Given the description of an element on the screen output the (x, y) to click on. 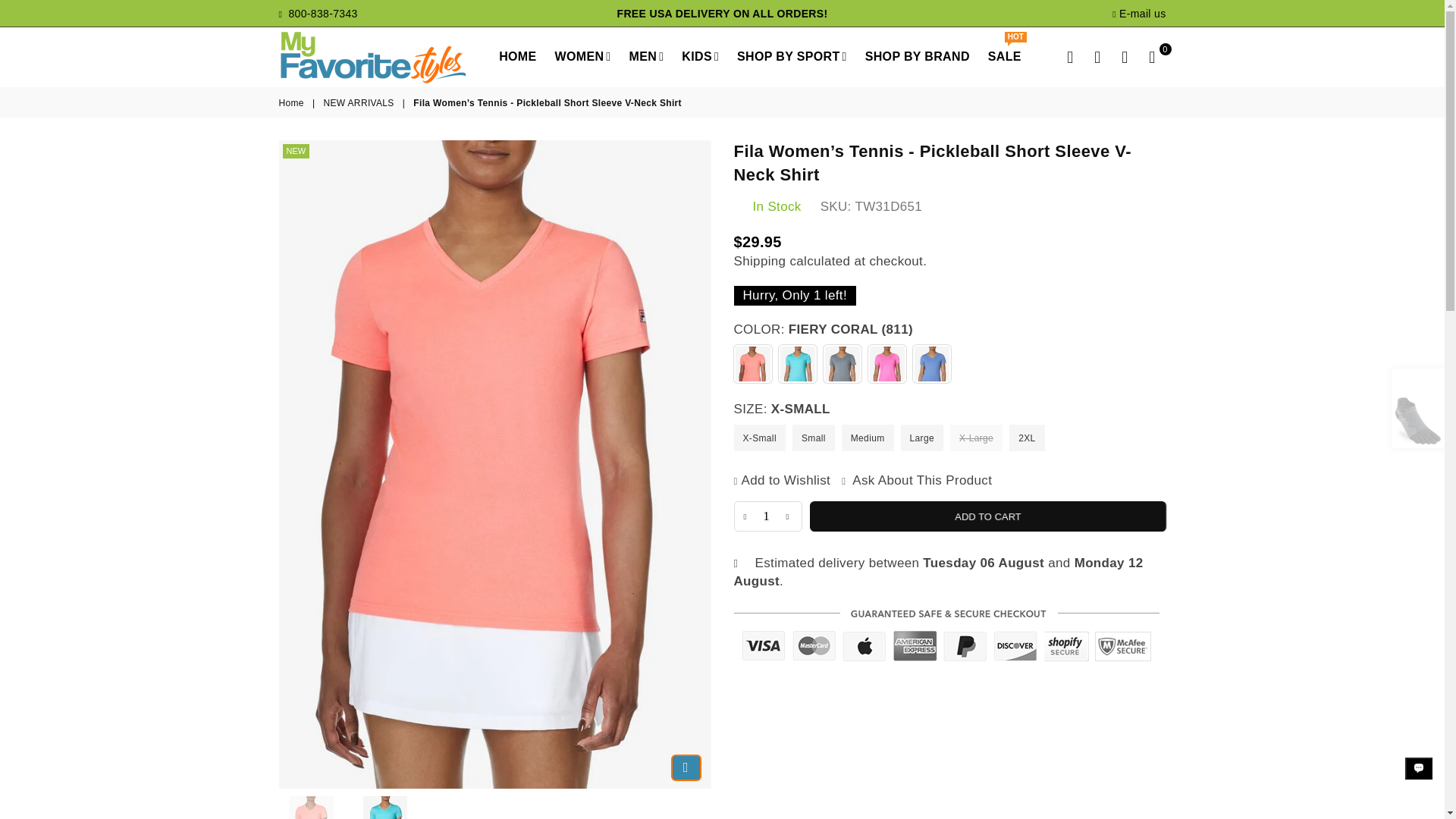
HOME (517, 56)
Search (1070, 56)
MYFAVORITESTYLES (385, 56)
MEN (646, 56)
WOMEN (582, 56)
Quantity (767, 516)
E-mail us (1139, 13)
Back to the home page (292, 103)
Wishlist (1125, 56)
Cart (1152, 56)
Settings (1098, 56)
800-838-7343 (318, 13)
